Given the description of an element on the screen output the (x, y) to click on. 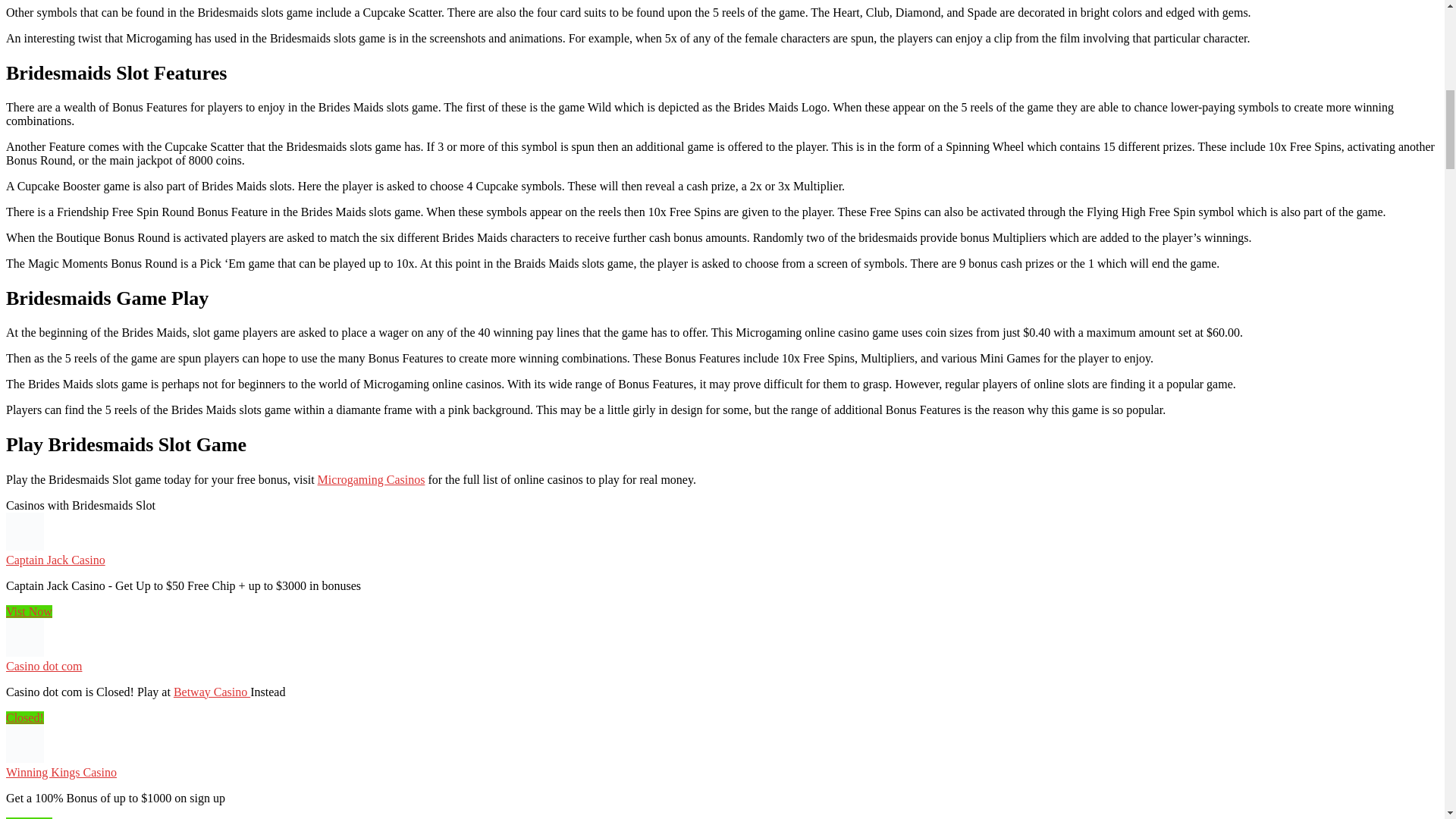
Vist Now (28, 611)
Vist Now (28, 818)
Captain Jack Casino (54, 559)
Casino dot com (24, 652)
Closed! (24, 717)
Microgaming Casinos (371, 479)
Winning Kings Casino (60, 771)
Captain Jack Casino (24, 545)
Casino dot com (43, 666)
Vist Now (28, 611)
